Given the description of an element on the screen output the (x, y) to click on. 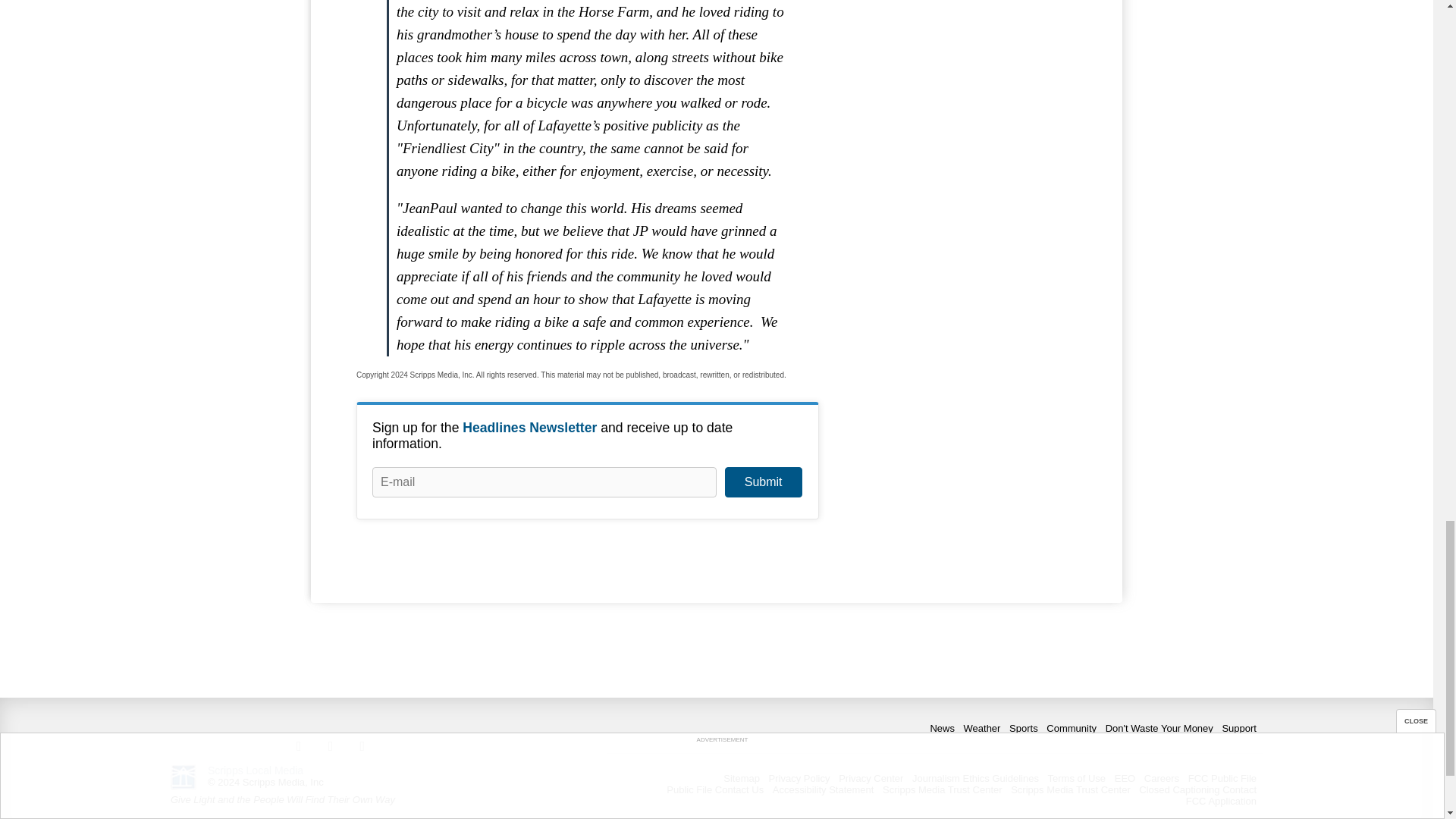
Submit (763, 481)
